Given the description of an element on the screen output the (x, y) to click on. 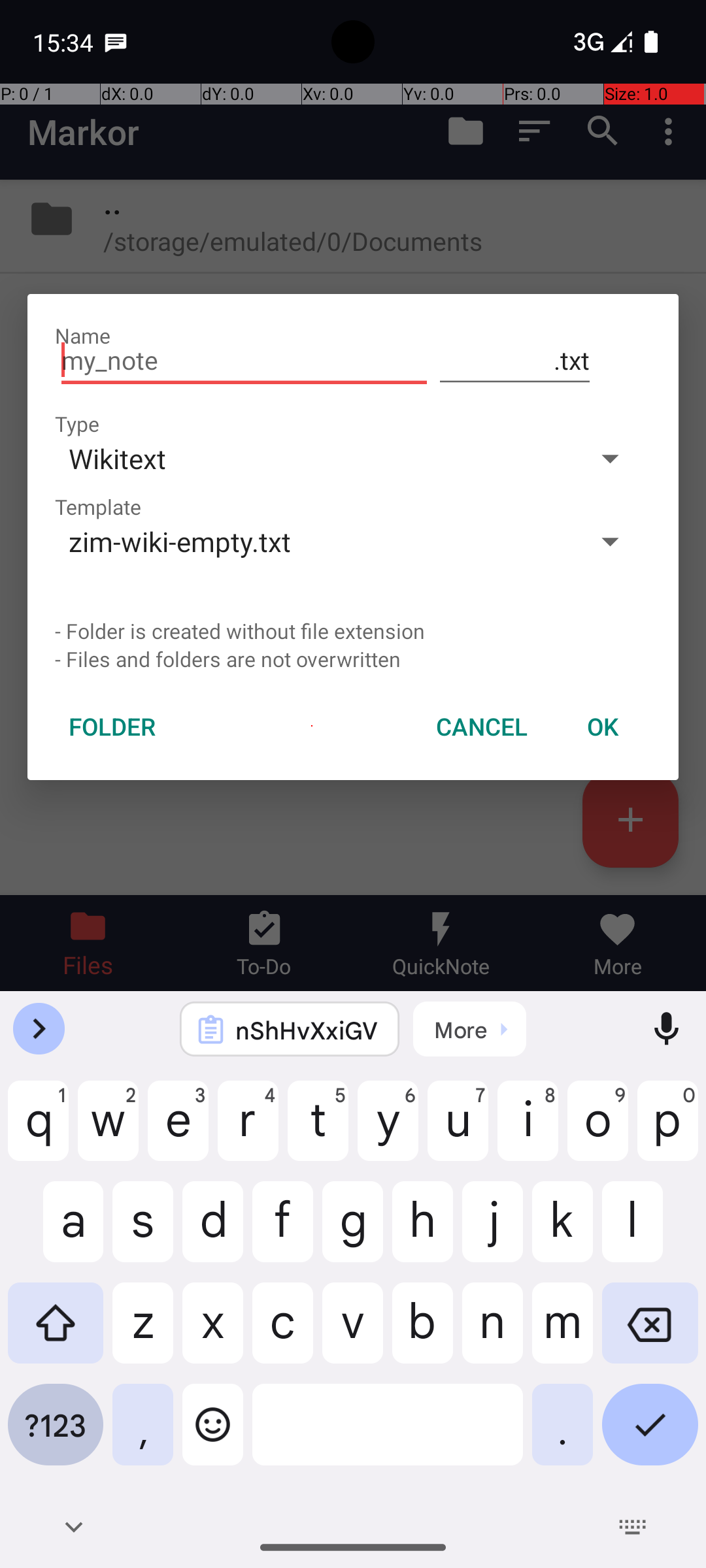
my_note Element type: android.widget.EditText (243, 360)
.txt Element type: android.widget.EditText (514, 360)
Type Element type: android.widget.TextView (76, 423)
Template Element type: android.widget.TextView (97, 506)
- Folder is created without file extension Element type: android.widget.TextView (352, 630)
- Files and folders are not overwritten Element type: android.widget.TextView (352, 658)
FOLDER Element type: android.widget.Button (111, 726)
Wikitext Element type: android.widget.TextView (311, 457)
zim-wiki-empty.txt Element type: android.widget.TextView (311, 540)
nShHvXxiGV Element type: android.widget.TextView (306, 1029)
